Given the description of an element on the screen output the (x, y) to click on. 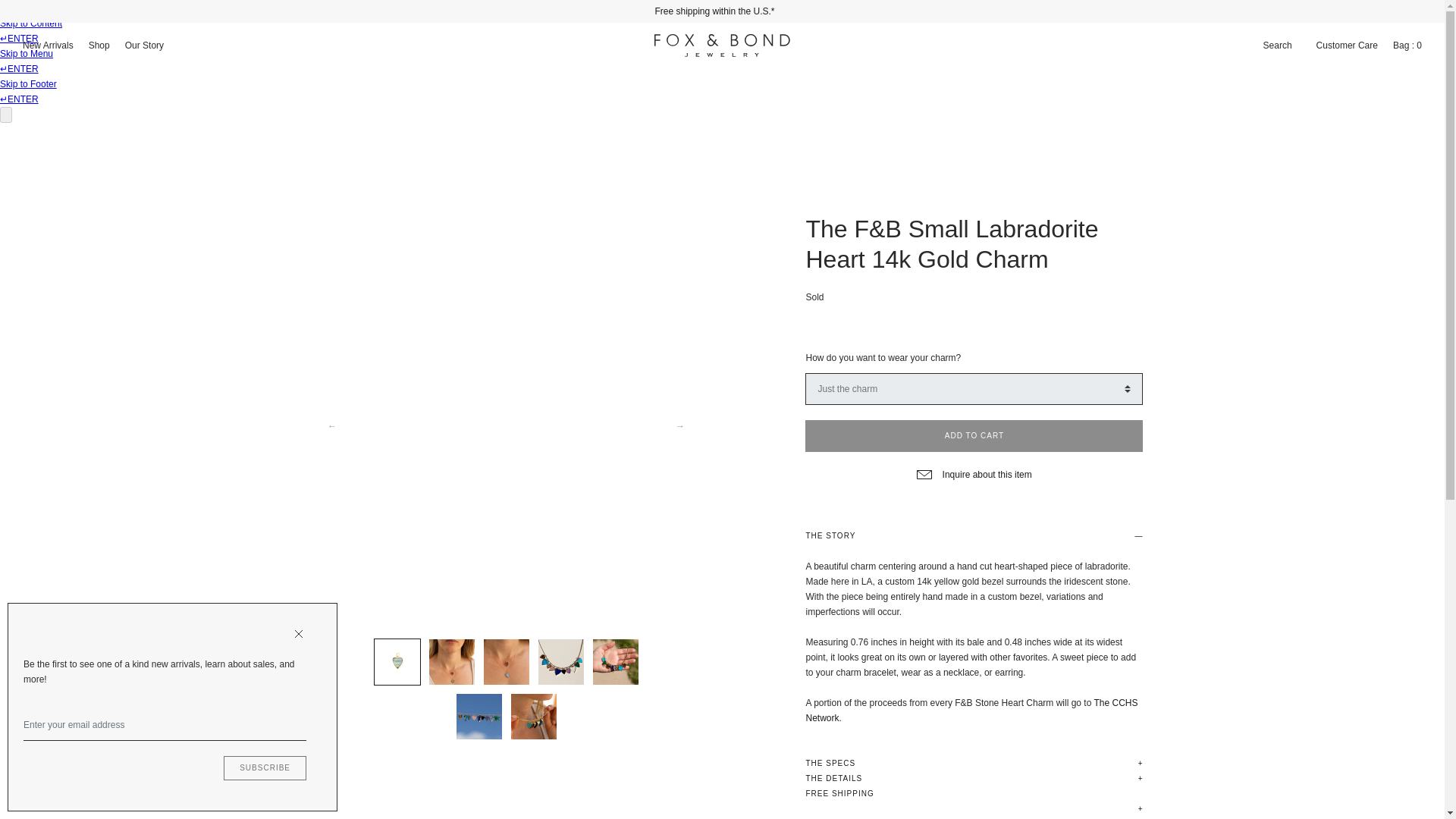
Customer Care (1347, 44)
Bag : 0 (1407, 44)
New Arrivals (47, 44)
Our Story (144, 44)
